Given the description of an element on the screen output the (x, y) to click on. 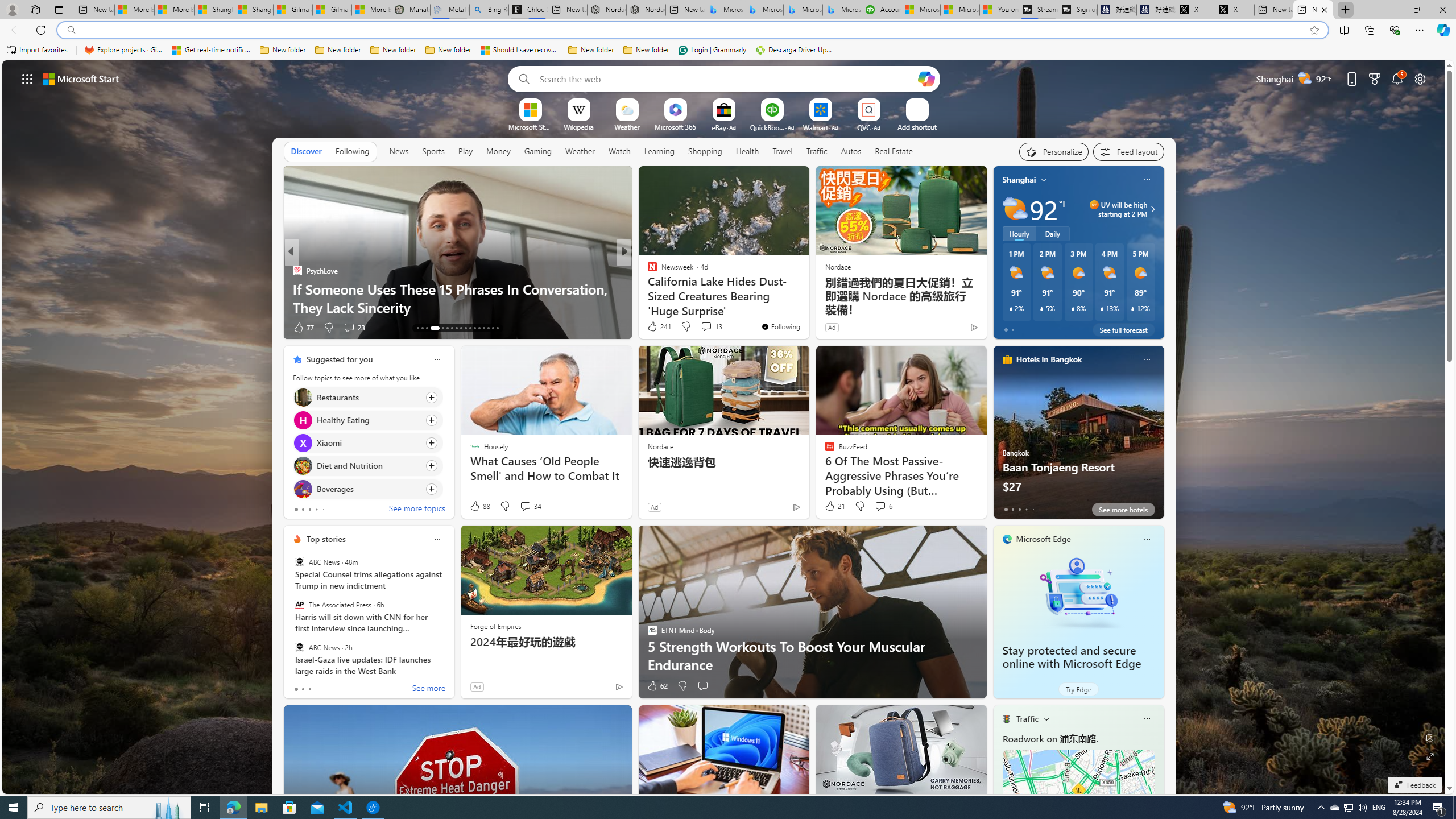
Microsoft Bing Travel - Stays in Bangkok, Bangkok, Thailand (763, 9)
AutomationID: tab-19 (451, 328)
Is coffee good for you? It may depend on your genes (807, 307)
View comments 13 Comment (705, 326)
USA TODAY College Sports Wire (647, 270)
Bing Real Estate - Home sales and rental listings (488, 9)
View comments 5 Comment (702, 327)
View comments 5 Comment (698, 327)
You're following Newsweek (780, 326)
